Given the description of an element on the screen output the (x, y) to click on. 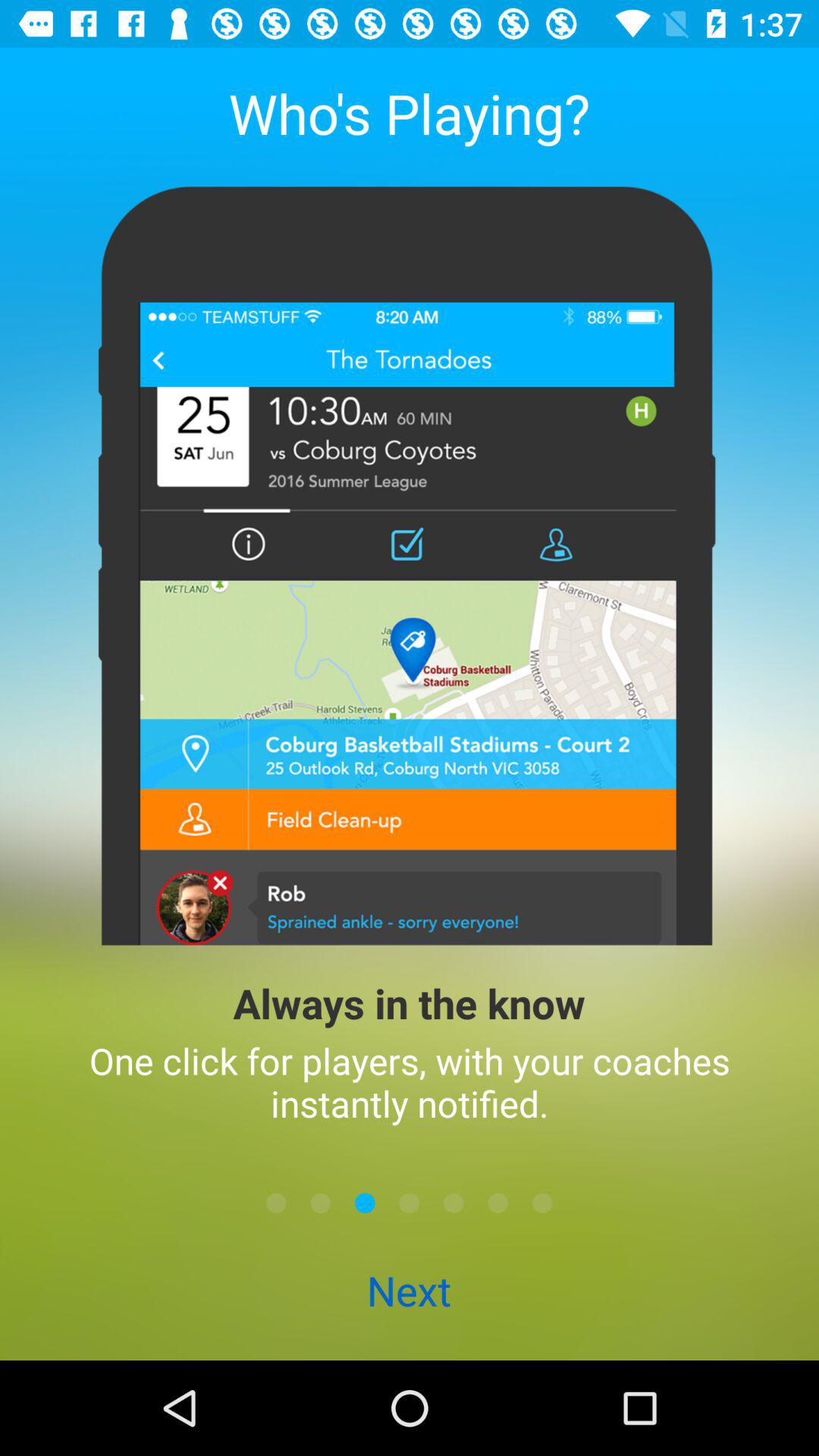
open icon below one click for (409, 1203)
